Given the description of an element on the screen output the (x, y) to click on. 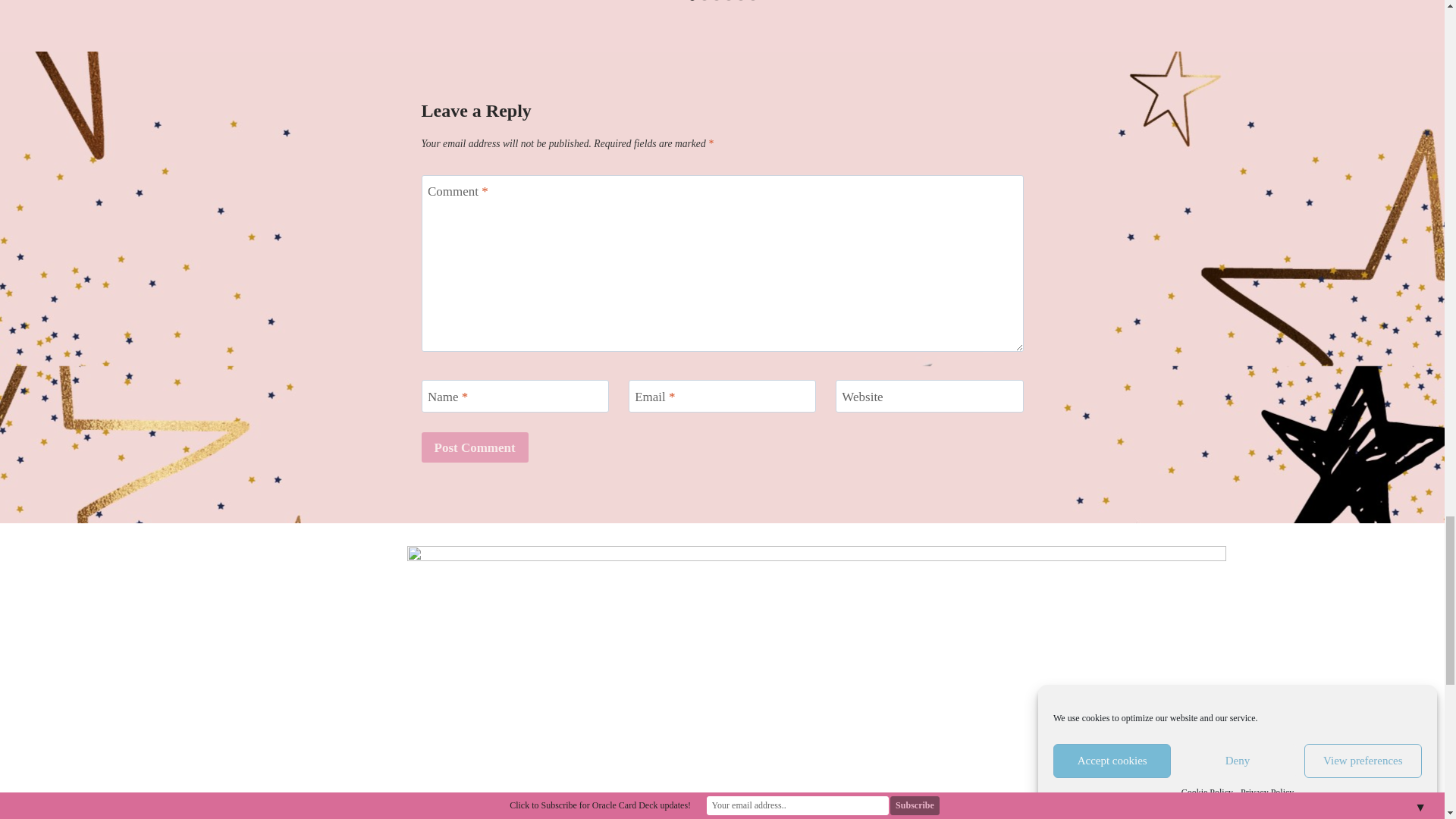
Post Comment (475, 447)
